Given the description of an element on the screen output the (x, y) to click on. 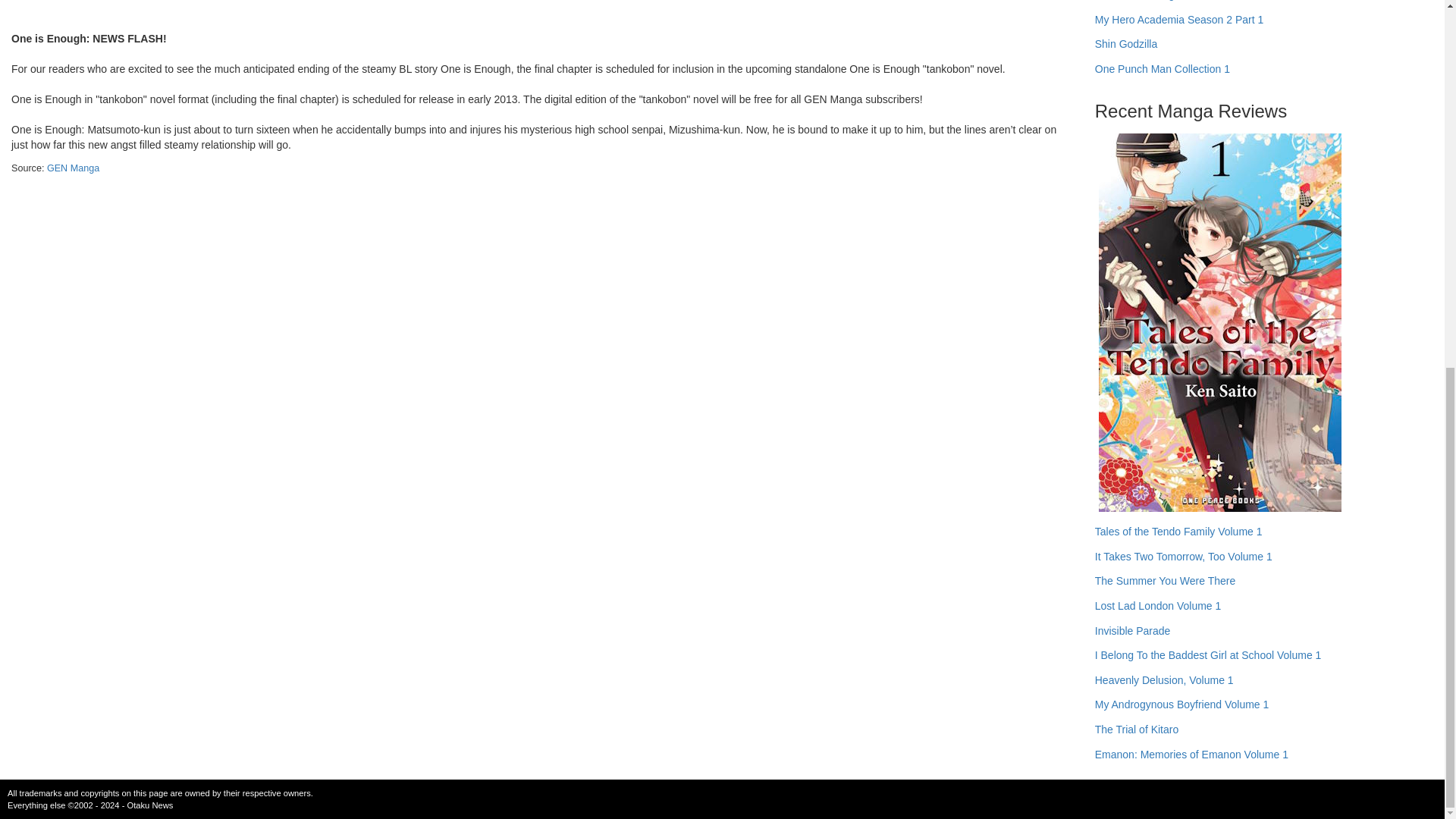
GEN Manga (72, 167)
